Given the description of an element on the screen output the (x, y) to click on. 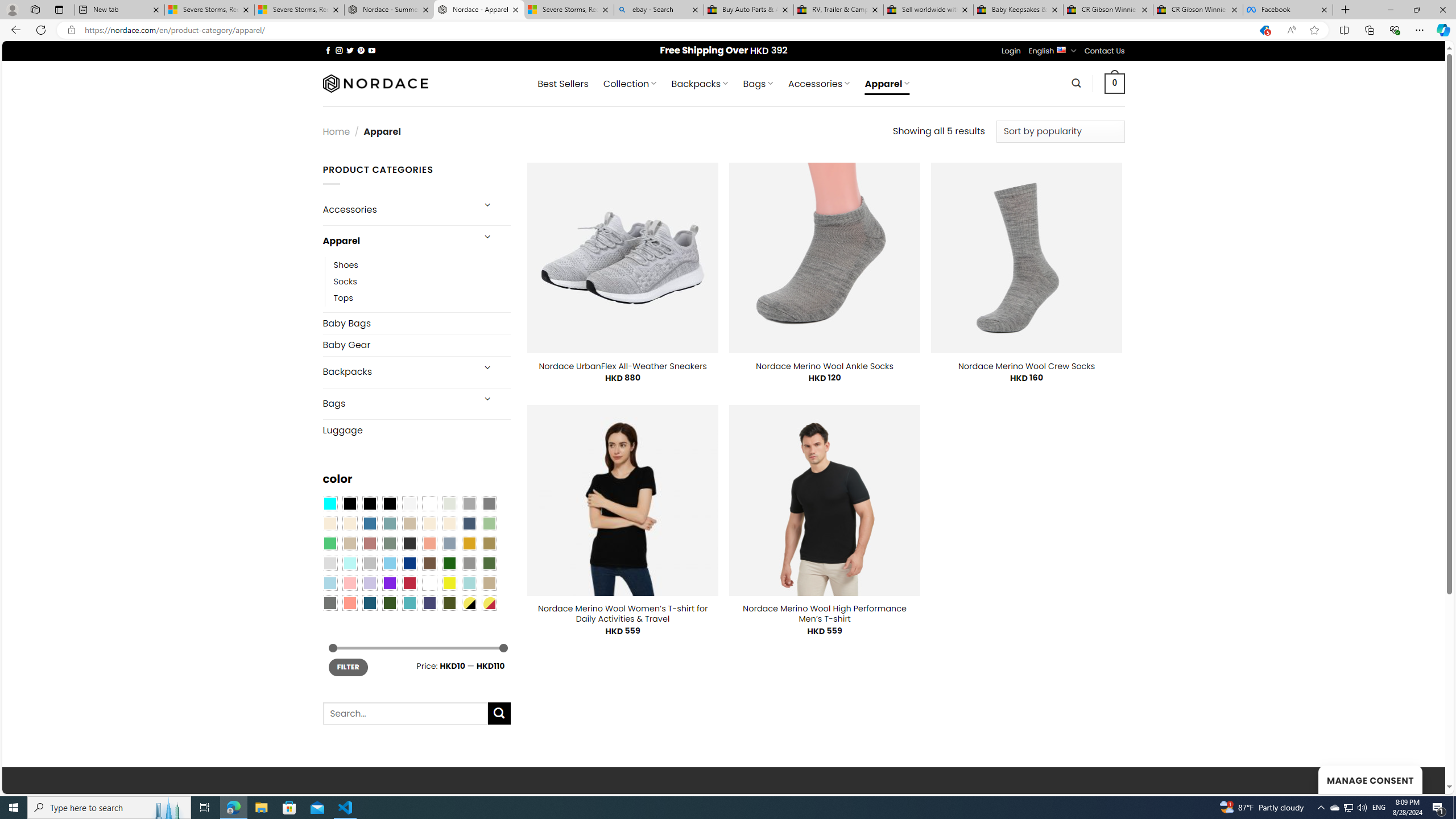
Follow on Twitter (349, 49)
Baby Bags (416, 323)
Brown (429, 562)
Bags (397, 403)
Kelp (488, 542)
